Given the description of an element on the screen output the (x, y) to click on. 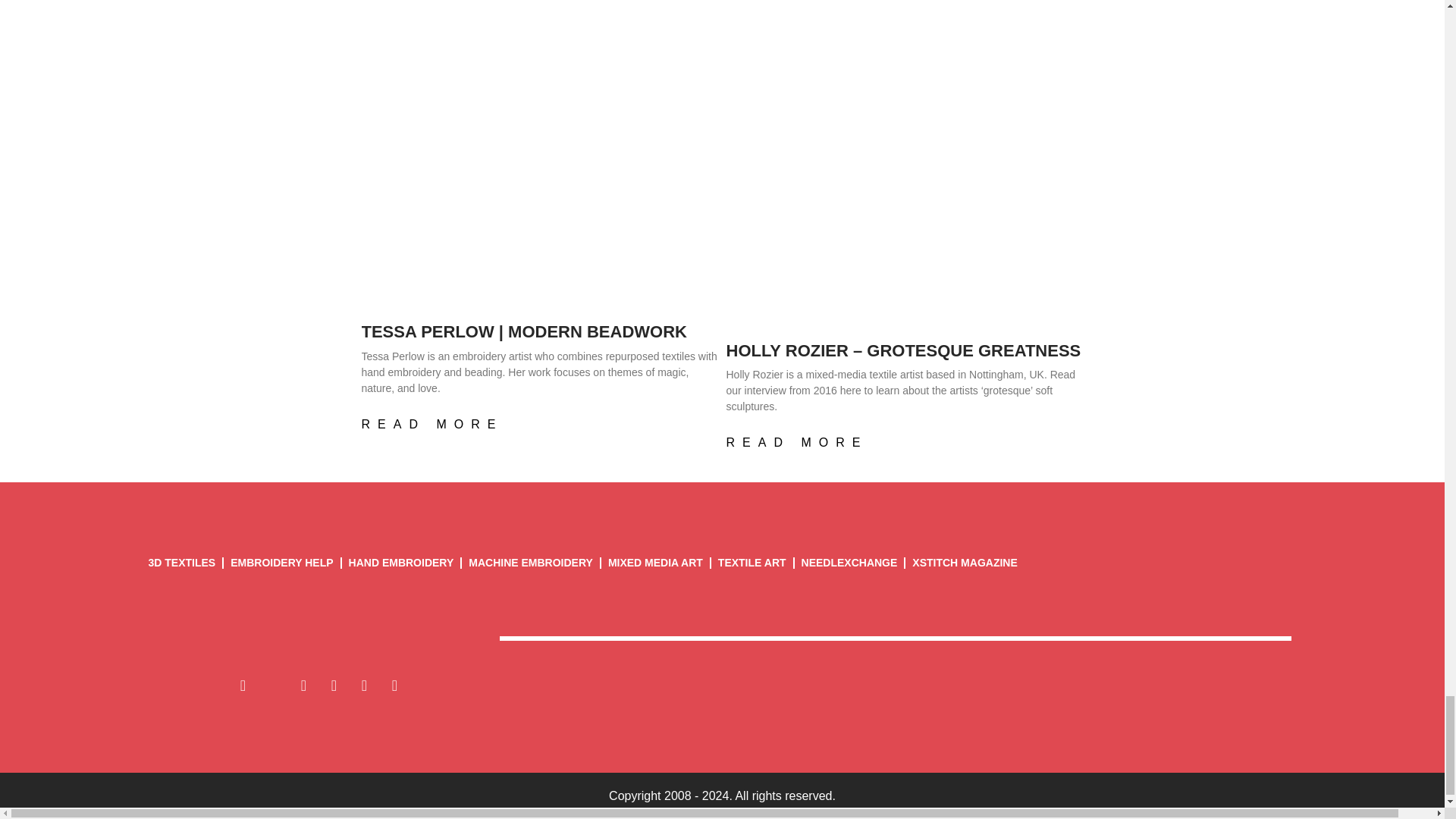
READ MORE (431, 424)
READ MORE (796, 443)
3D TEXTILES (180, 562)
